Given the description of an element on the screen output the (x, y) to click on. 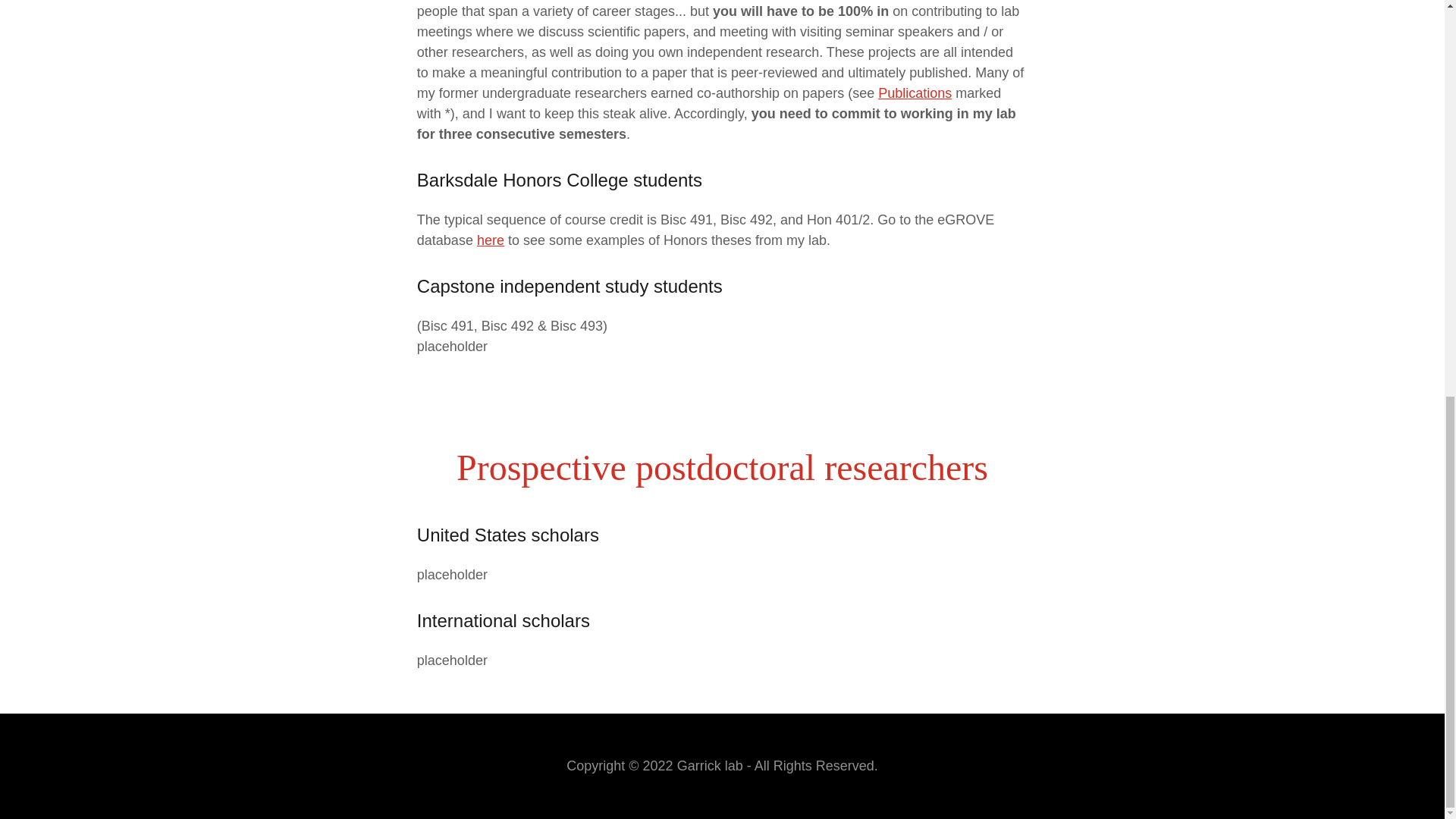
here (490, 240)
Publications (914, 92)
